Given the description of an element on the screen output the (x, y) to click on. 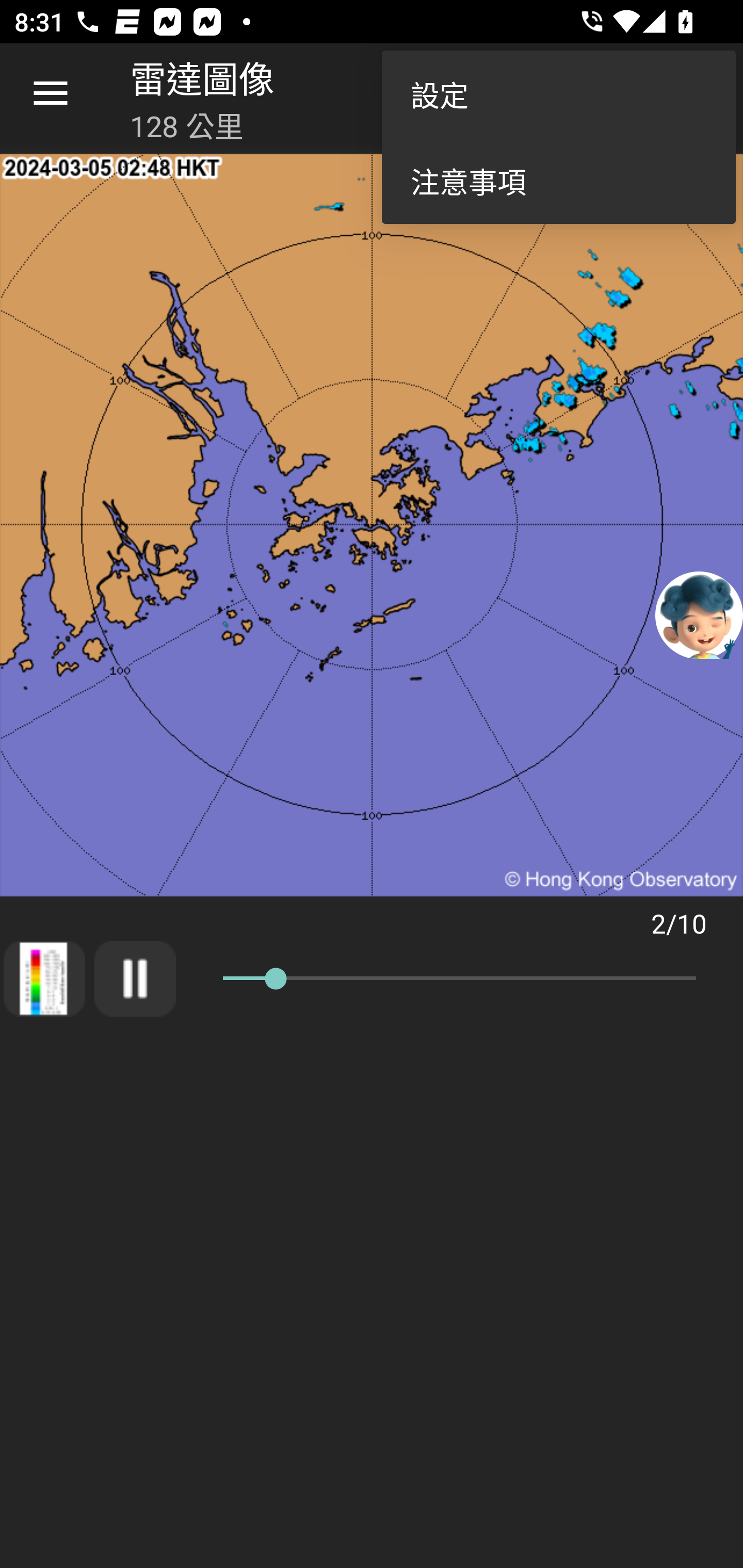
設定 (558, 93)
注意事項 (558, 180)
